Given the description of an element on the screen output the (x, y) to click on. 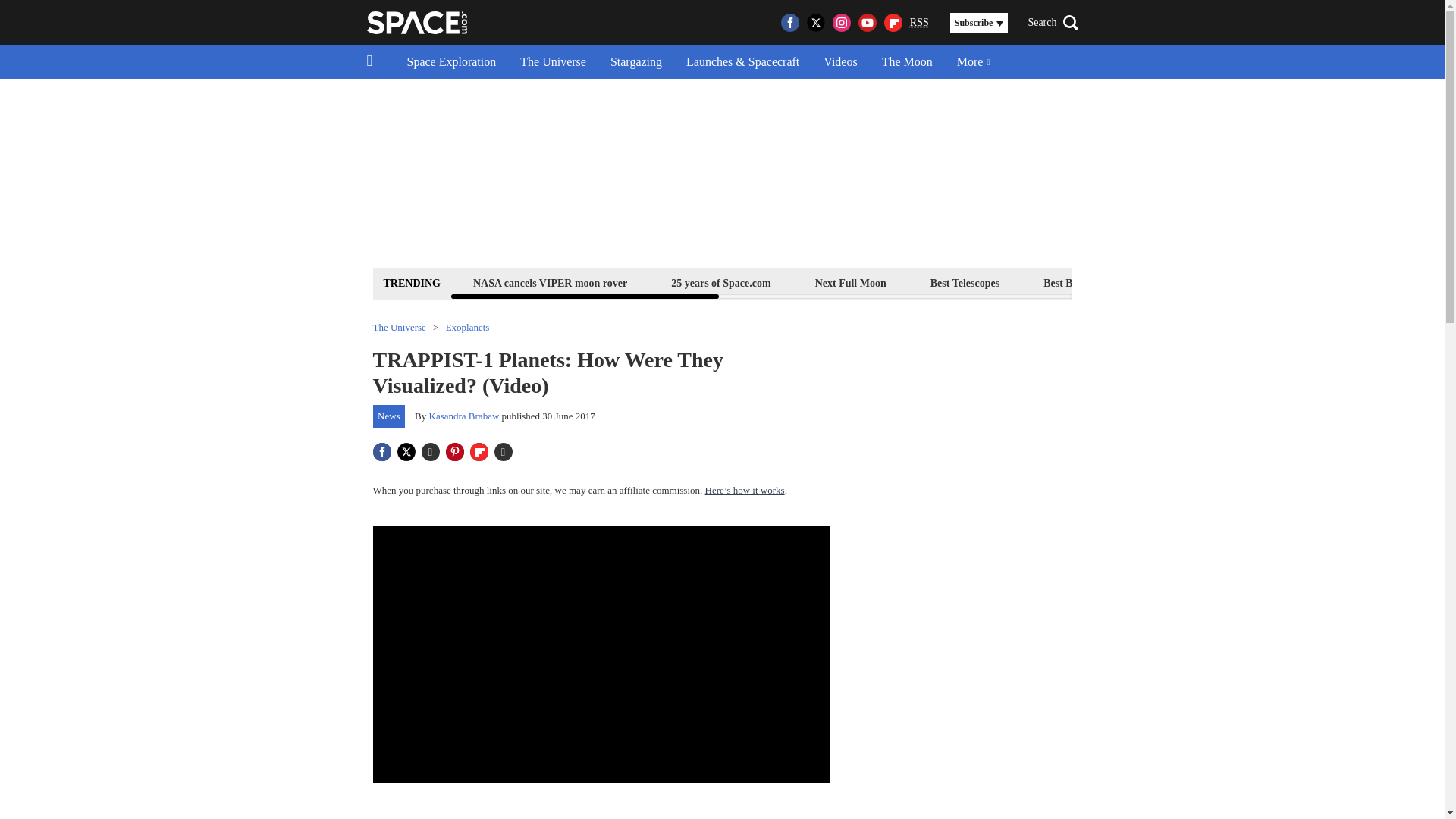
RSS (919, 22)
Best Telescopes (964, 282)
NASA cancels VIPER moon rover (549, 282)
Space Calendar (1329, 282)
Stargazing (636, 61)
Space Exploration (451, 61)
Really Simple Syndication (919, 21)
Best Binoculars (1078, 282)
Best Star Projectors (1204, 282)
The Moon (906, 61)
The Universe (553, 61)
Next Full Moon (850, 282)
Videos (839, 61)
25 years of Space.com (720, 282)
